Given the description of an element on the screen output the (x, y) to click on. 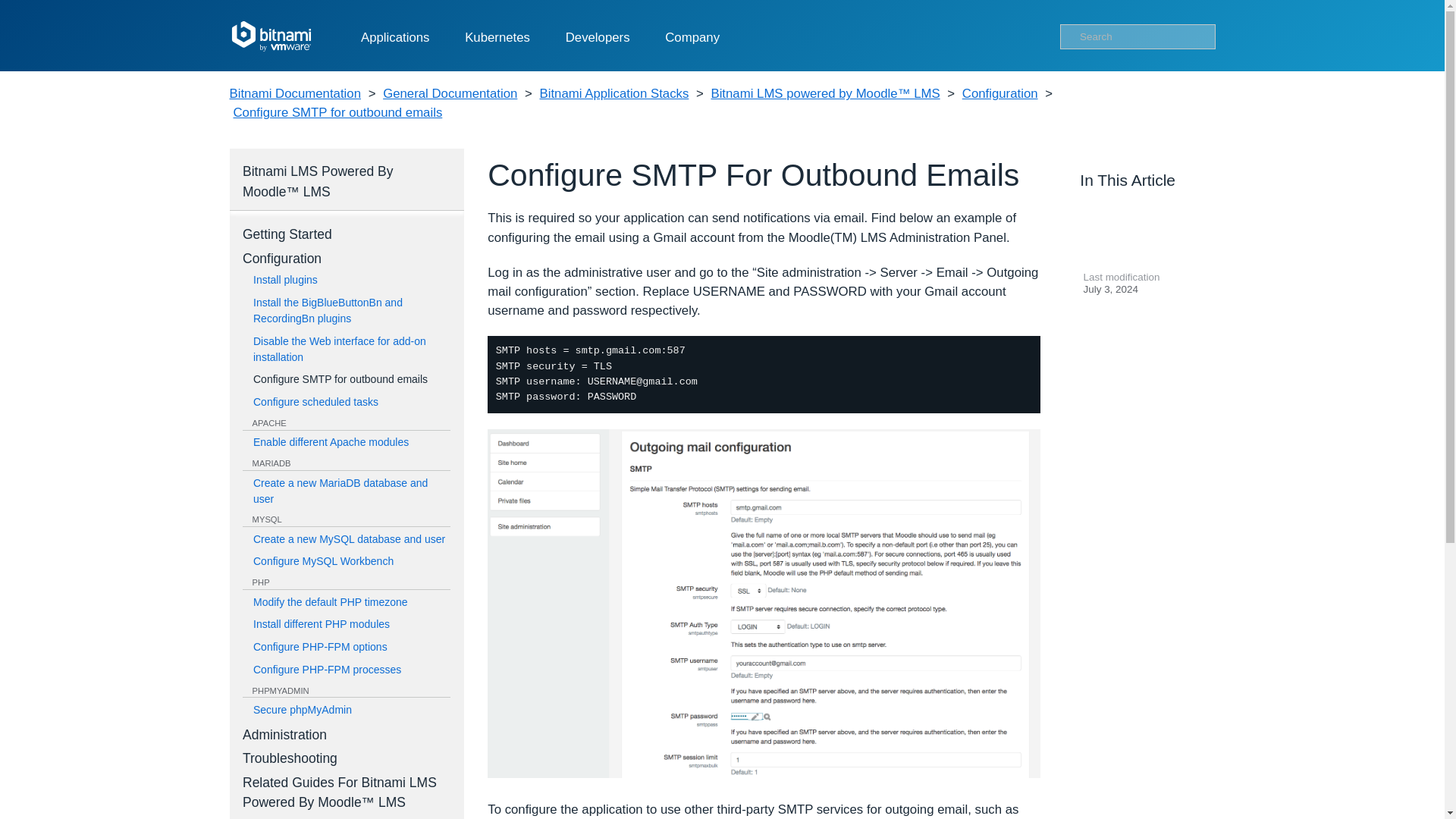
Bitnami Application Stacks (614, 93)
Bitnami Documentation (294, 93)
Company (692, 37)
Configuration (1000, 93)
General Documentation (449, 93)
Configure SMTP for outbound emails (337, 112)
Applications (395, 37)
Kubernetes (497, 37)
Developers (598, 37)
